Given the description of an element on the screen output the (x, y) to click on. 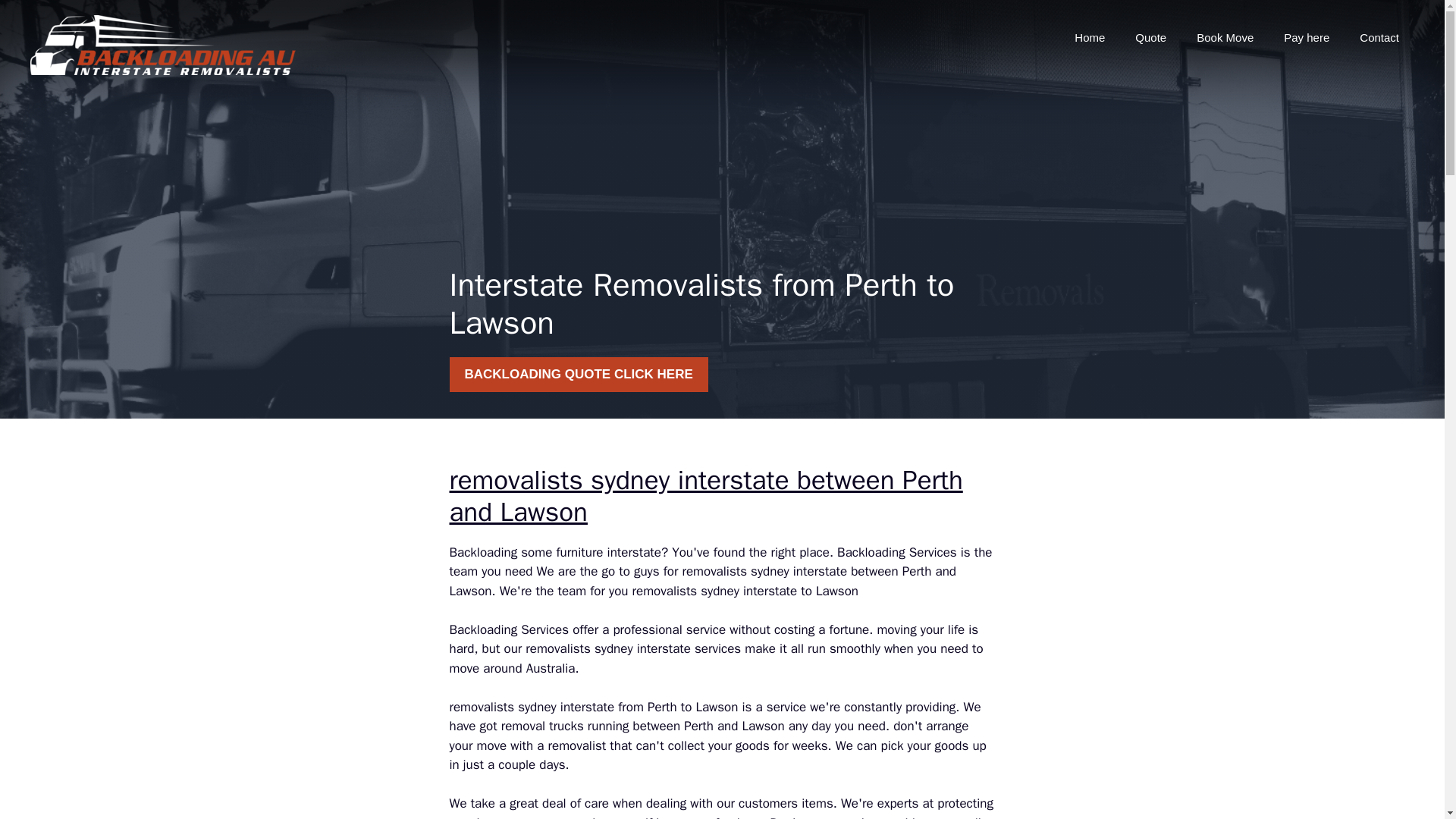
Quote (1149, 37)
BACKLOADING QUOTE CLICK HERE (577, 374)
Book Move (1224, 37)
Contact (1378, 37)
Home (1089, 37)
Pay here (1305, 37)
Search (42, 18)
